Given the description of an element on the screen output the (x, y) to click on. 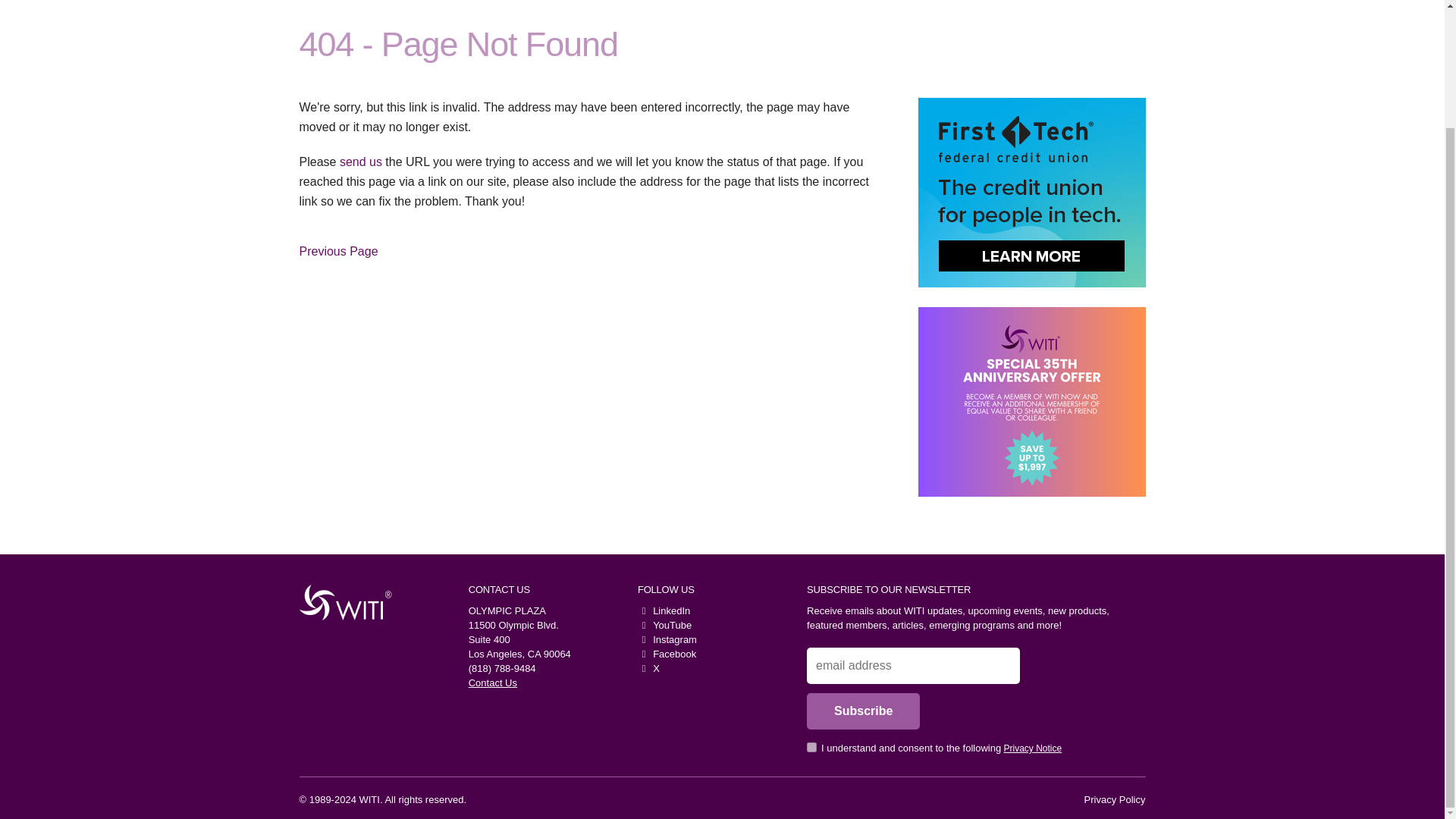
Subscribe (863, 710)
Workforce Innovation, Trust, and Influence (339, 601)
on (811, 747)
X (648, 668)
LinkedIn (663, 610)
send us (360, 161)
YouTube (664, 624)
Privacy Policy (1114, 799)
Privacy Notice (1033, 747)
Previous Page (337, 251)
Facebook (666, 654)
Instagram (667, 639)
Subscribe (863, 710)
Contact Us (492, 682)
First Tech Federal Credit Union (1030, 192)
